Given the description of an element on the screen output the (x, y) to click on. 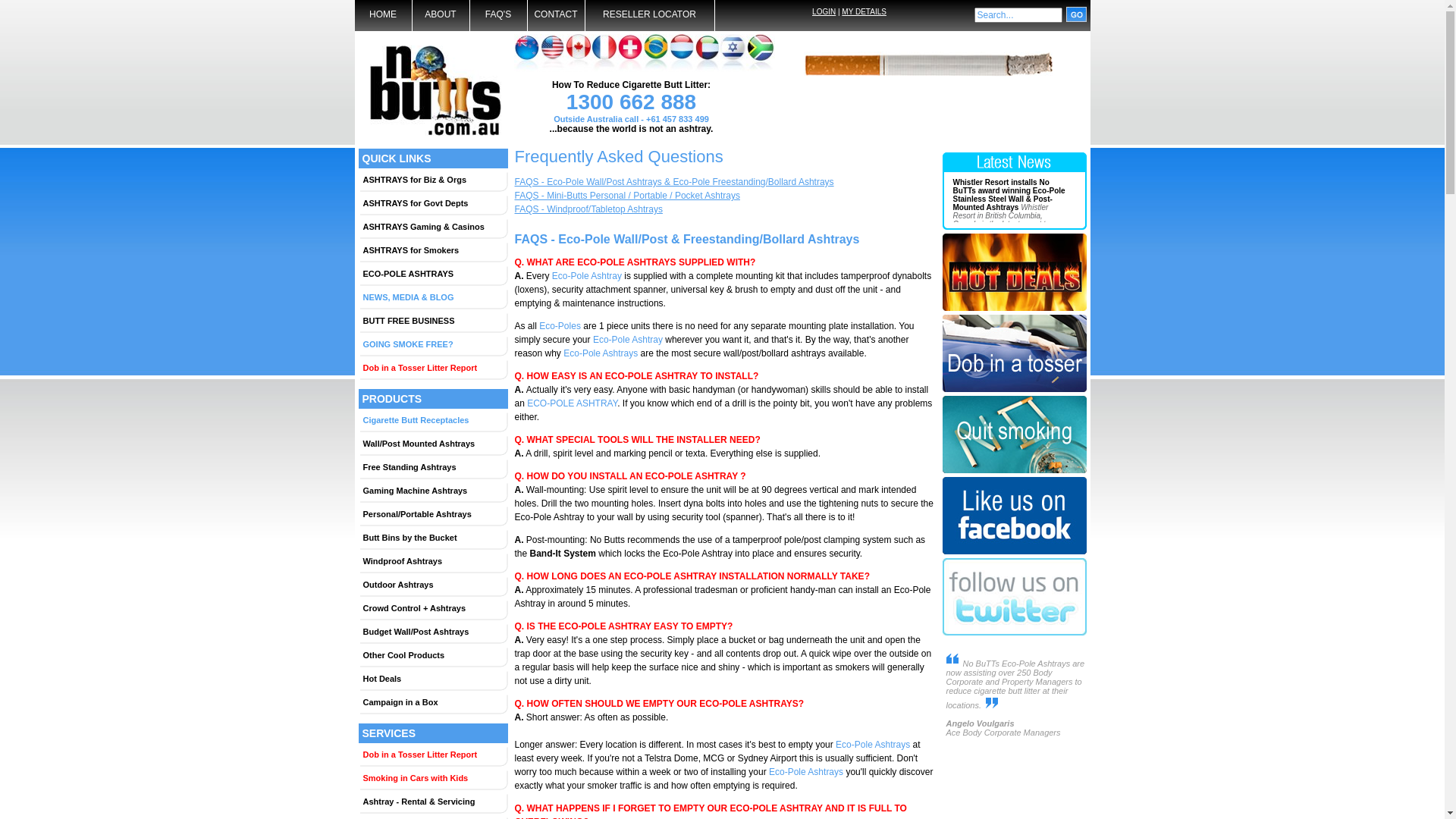
Hot Deals Element type: hover (1013, 311)
ASHTRAYS for Biz & Orgs Element type: text (433, 179)
CONTACT Element type: text (555, 15)
Crowd Control + Ashtrays Element type: text (433, 607)
Twitter Element type: hover (1013, 635)
Free Standing Ashtrays Element type: text (433, 466)
FAQ'S Element type: text (498, 15)
Contact details for France Element type: hover (604, 53)
Campaign in a Box Element type: text (433, 701)
Quit Smoking here Element type: hover (1013, 435)
FAQS - Windproof/Tabletop Ashtrays Element type: text (588, 208)
Windproof Ashtrays Element type: text (433, 560)
HOME Element type: hover (435, 132)
Contact details for Brazil Element type: hover (655, 53)
Dob in a Tosser Litter Report Element type: text (433, 754)
Contact details for USA Element type: hover (552, 53)
Gaming Machine Ashtrays Element type: text (433, 490)
Quit Smoking Element type: hover (1013, 473)
Budget Wall/Post Ashtrays Element type: text (433, 631)
Make a Citizen Littering report here Element type: hover (1013, 354)
Smoking in Cars with Kids Element type: text (433, 777)
Dob in a Tosser Litter Report Element type: text (433, 367)
The butts stop here. ...because the world is not an ashtray. Element type: hover (435, 90)
BUTT FREE BUSINESS Element type: text (433, 320)
FAQS - Mini-Butts Personal / Portable / Pocket Ashtrays Element type: text (626, 195)
Wall/Post Mounted Ashtrays Element type: text (433, 443)
Contact details for Switzerland Element type: hover (630, 53)
Contact details for Netherlands Element type: hover (681, 53)
MY DETAILS Element type: text (863, 11)
NEWS, MEDIA & BLOG Element type: text (433, 296)
Facebook - No Butts Element type: hover (1013, 554)
Personal/Portable Ashtrays Element type: text (433, 513)
Hot Deals Element type: hover (1013, 273)
HOME Element type: text (382, 15)
Outdoor Ashtrays Element type: text (433, 584)
Angelo Voulgaris
Ace Body Corporate Managers Element type: text (1003, 736)
GOING SMOKE FREE? Element type: text (433, 343)
Contact details for South Africa Element type: hover (760, 53)
RESELLER LOCATOR Element type: text (649, 15)
LOGIN Element type: text (823, 11)
ASHTRAYS Gaming & Casinos Element type: text (433, 226)
ECO-POLE ASHTRAYS Element type: text (433, 273)
FAQS - Eco-Pole Wall/Post & Freestanding/Bollard Ashtrays Element type: text (686, 238)
Follow us on twitter Element type: hover (1013, 598)
ABOUT Element type: text (440, 15)
Cigarette Butt Receptacles Element type: text (433, 419)
Cigarette Butt Litter Reduction from No BuTTs Element type: hover (927, 60)
ASHTRAYS for Smokers Element type: text (433, 249)
Like us on Facebook Element type: hover (1013, 517)
Dob in a Tosser Litter Report Element type: hover (1013, 392)
Ashtray - Rental & Servicing Element type: text (433, 801)
ASHTRAYS for Govt Depts Element type: text (433, 202)
Contact details for NZ Element type: hover (526, 53)
Other Cool Products Element type: text (433, 654)
Contact details for Canada Element type: hover (578, 53)
Contact Details for the Middle East Element type: hover (707, 53)
Hot Deals Element type: text (433, 678)
Go Element type: text (1076, 13)
Butt Bins by the Bucket Element type: text (433, 537)
Shalom! No BuTTs opening in Israel in late 2012! Element type: hover (733, 53)
